Given the description of an element on the screen output the (x, y) to click on. 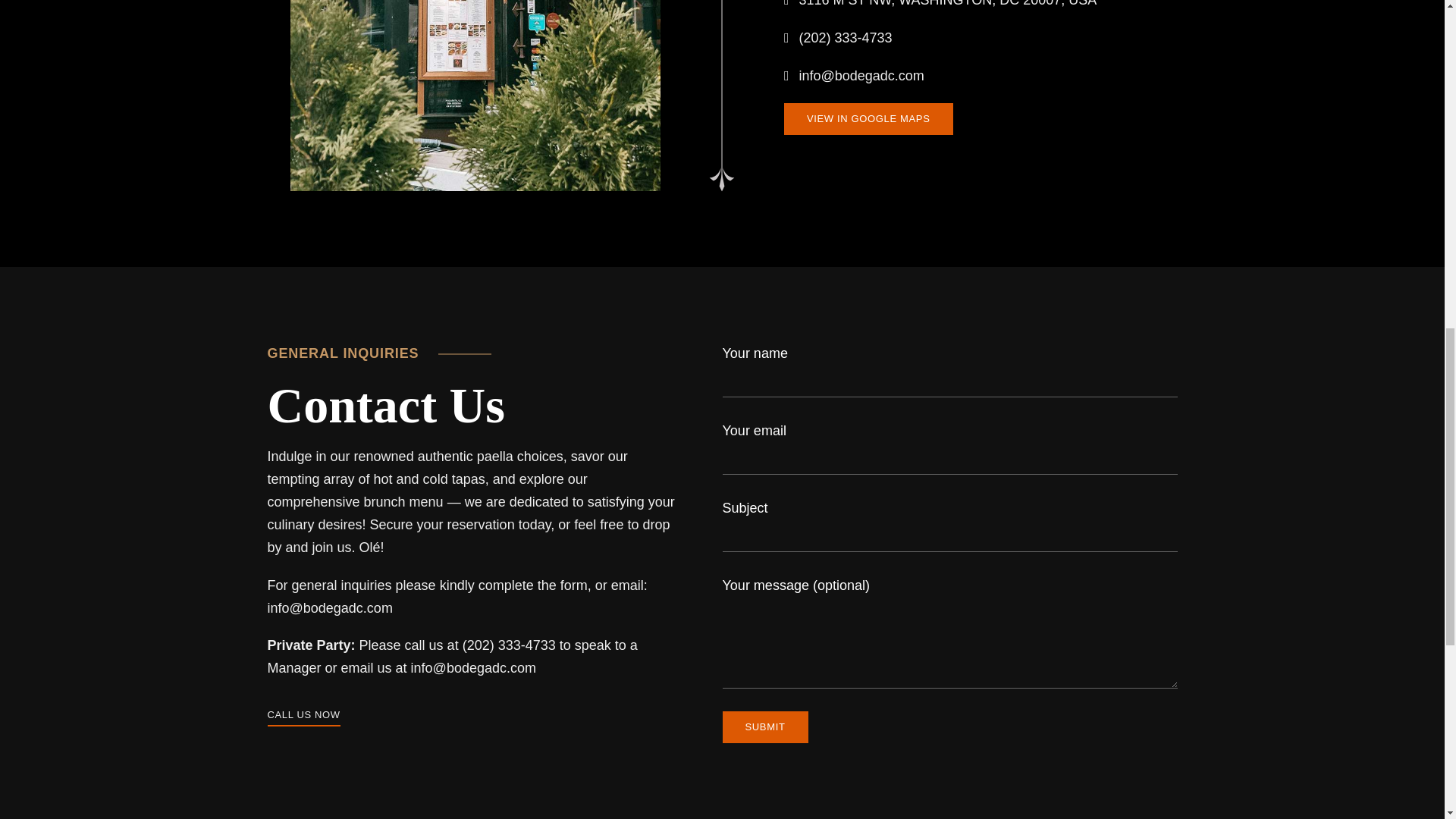
VIEW IN GOOGLE MAPS (868, 119)
Submit (765, 726)
Submit (765, 726)
CALL US NOW (302, 714)
